Given the description of an element on the screen output the (x, y) to click on. 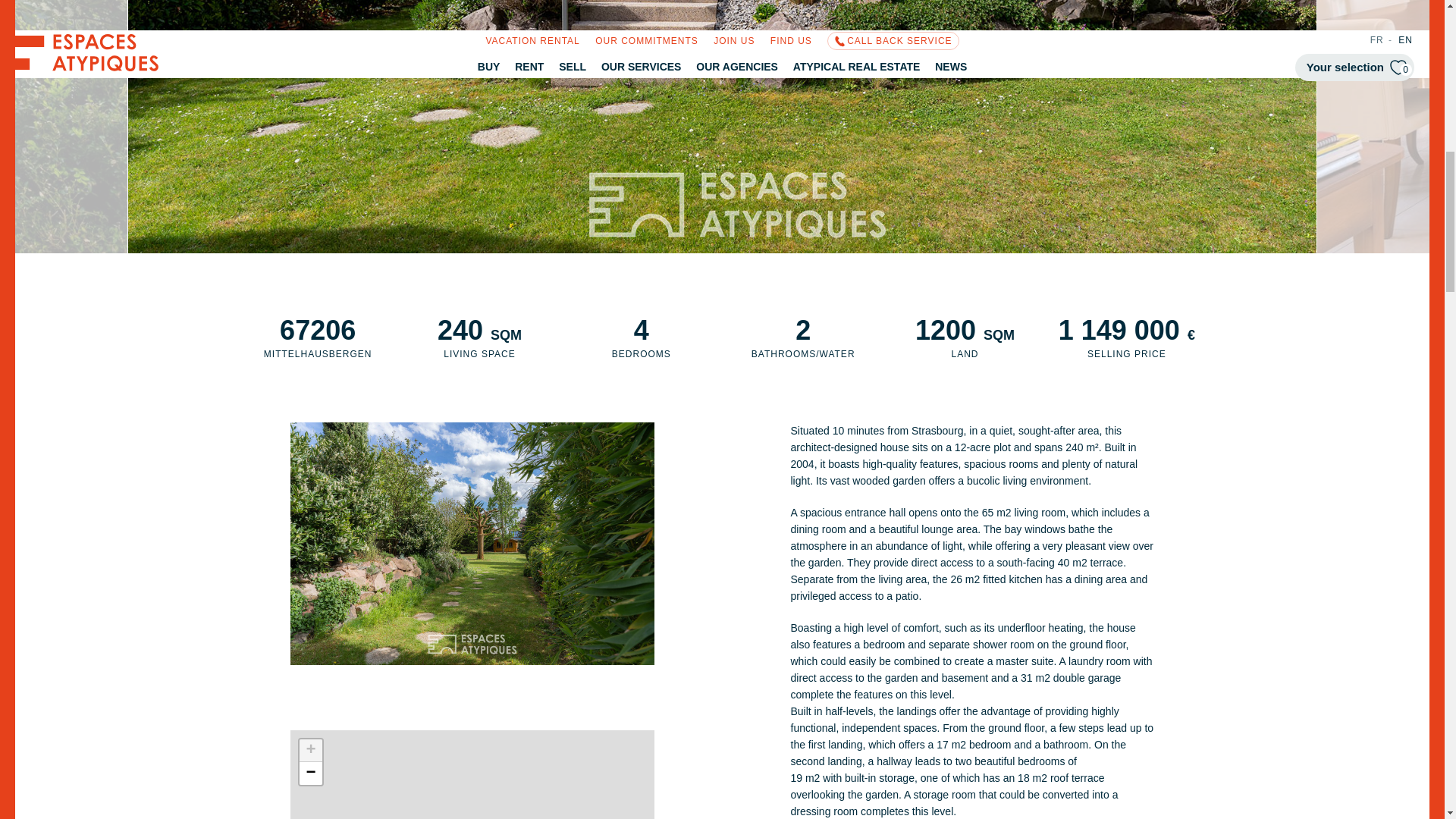
Zoom in (309, 750)
Zoom out (309, 773)
